Given the description of an element on the screen output the (x, y) to click on. 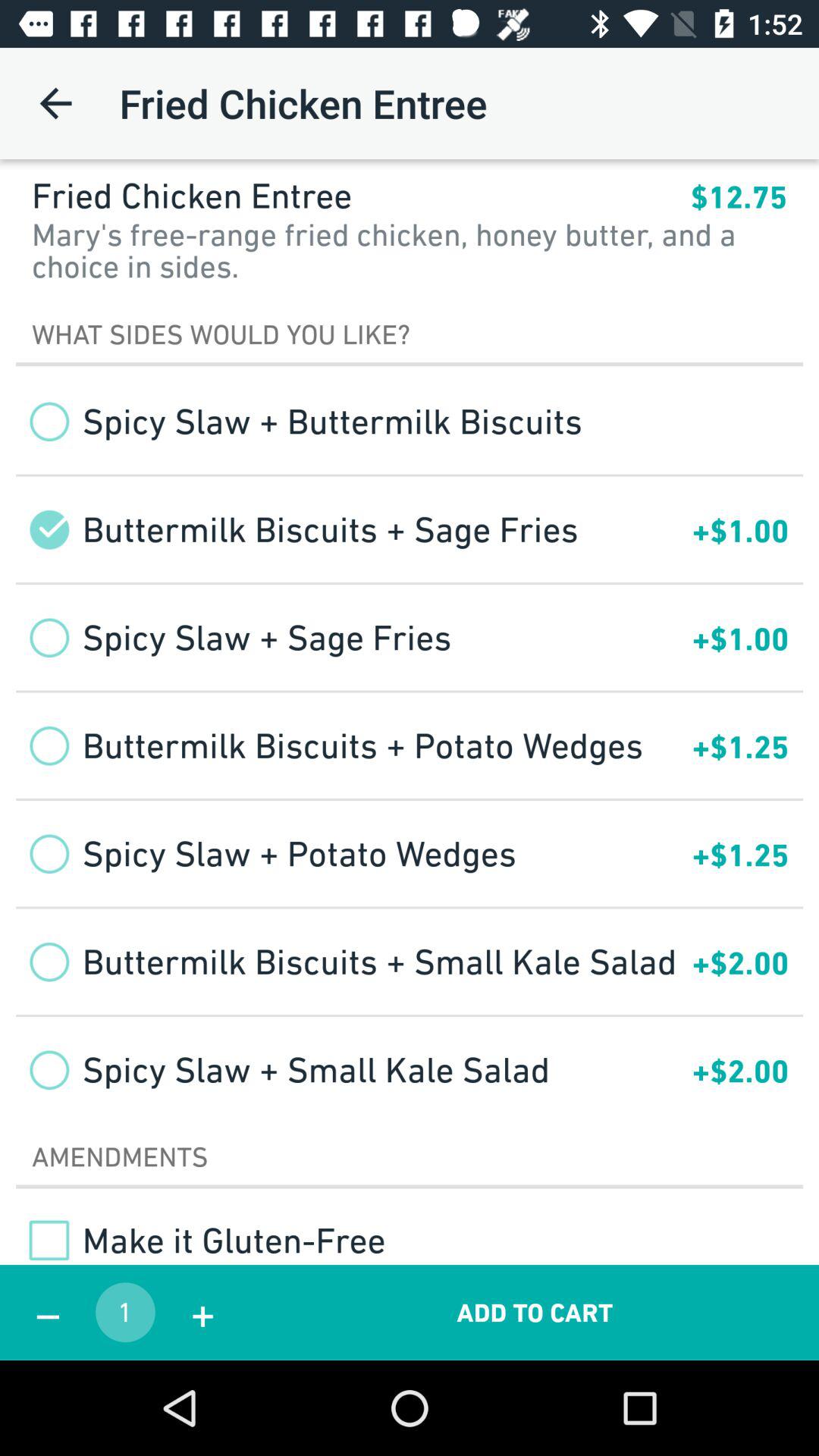
choose $12.75 item (738, 197)
